Given the description of an element on the screen output the (x, y) to click on. 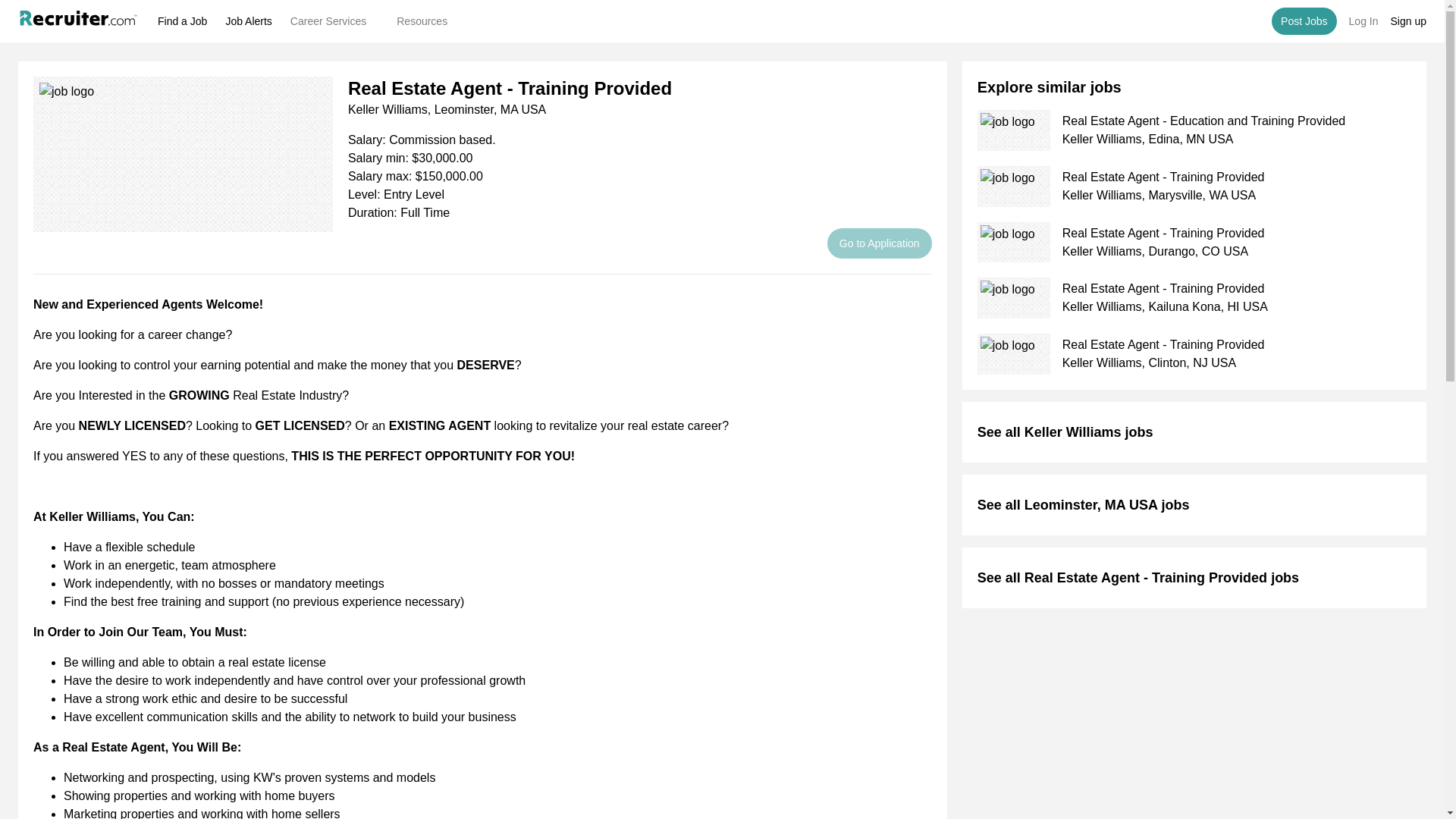
See all Keller Williams jobs (1064, 431)
Go to Application (879, 243)
Post Jobs (1303, 21)
Career Services (333, 20)
Job Alerts (247, 20)
Find a Job (181, 20)
Log In (1363, 20)
Sign up (1408, 20)
See all Leominster, MA USA jobs (1082, 504)
See all Real Estate Agent - Training Provided jobs (1137, 577)
Resources (428, 20)
